Given the description of an element on the screen output the (x, y) to click on. 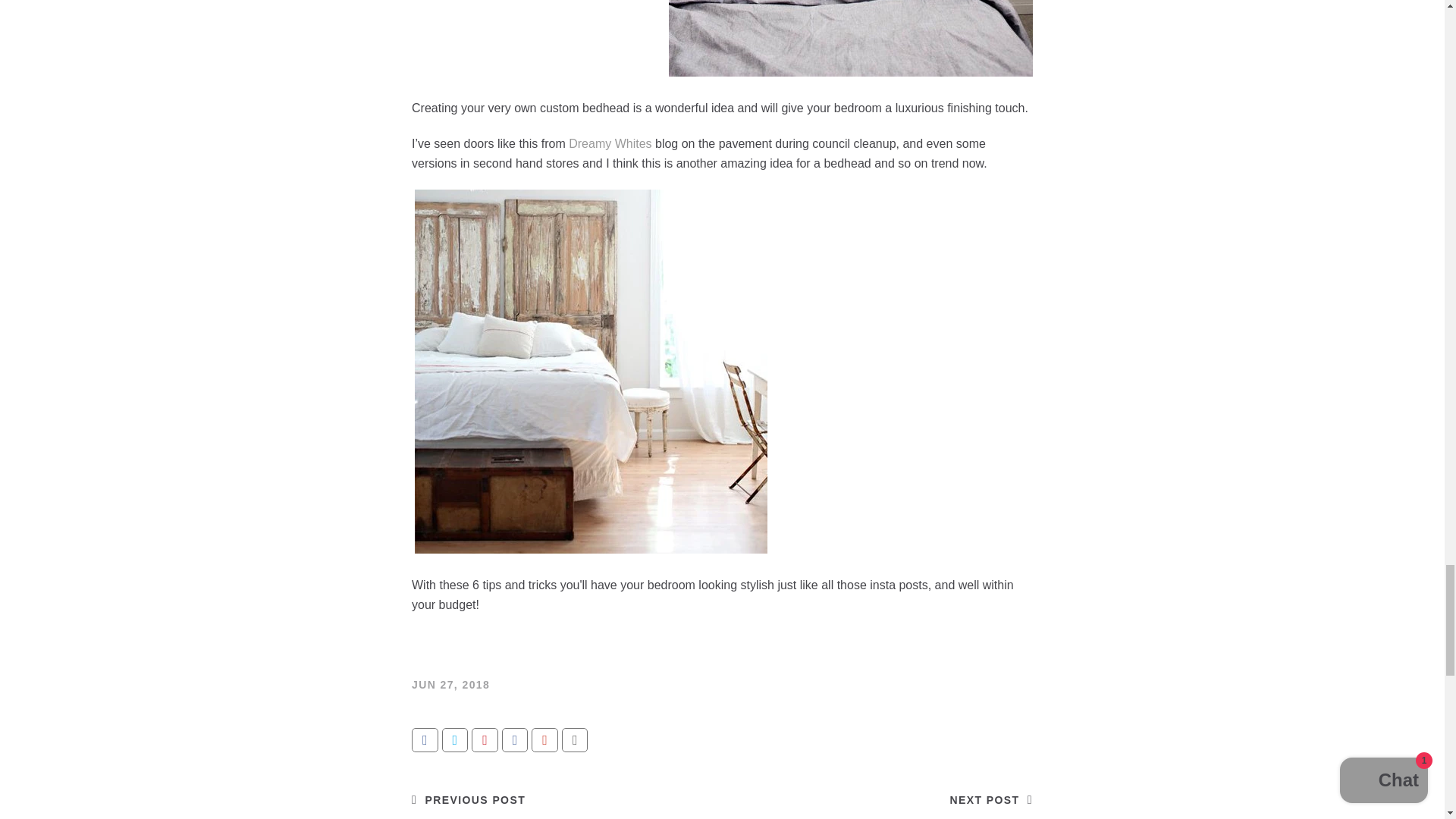
Tweet (455, 740)
Pin it (484, 740)
NEXT POST (991, 799)
Fancy (515, 740)
Dreamy Whites (609, 143)
bedroom blog bedroom decor ideas LOOM LIVING white bedlinen (609, 143)
Email (575, 740)
PREVIOUS POST (468, 799)
Like (425, 740)
